Given the description of an element on the screen output the (x, y) to click on. 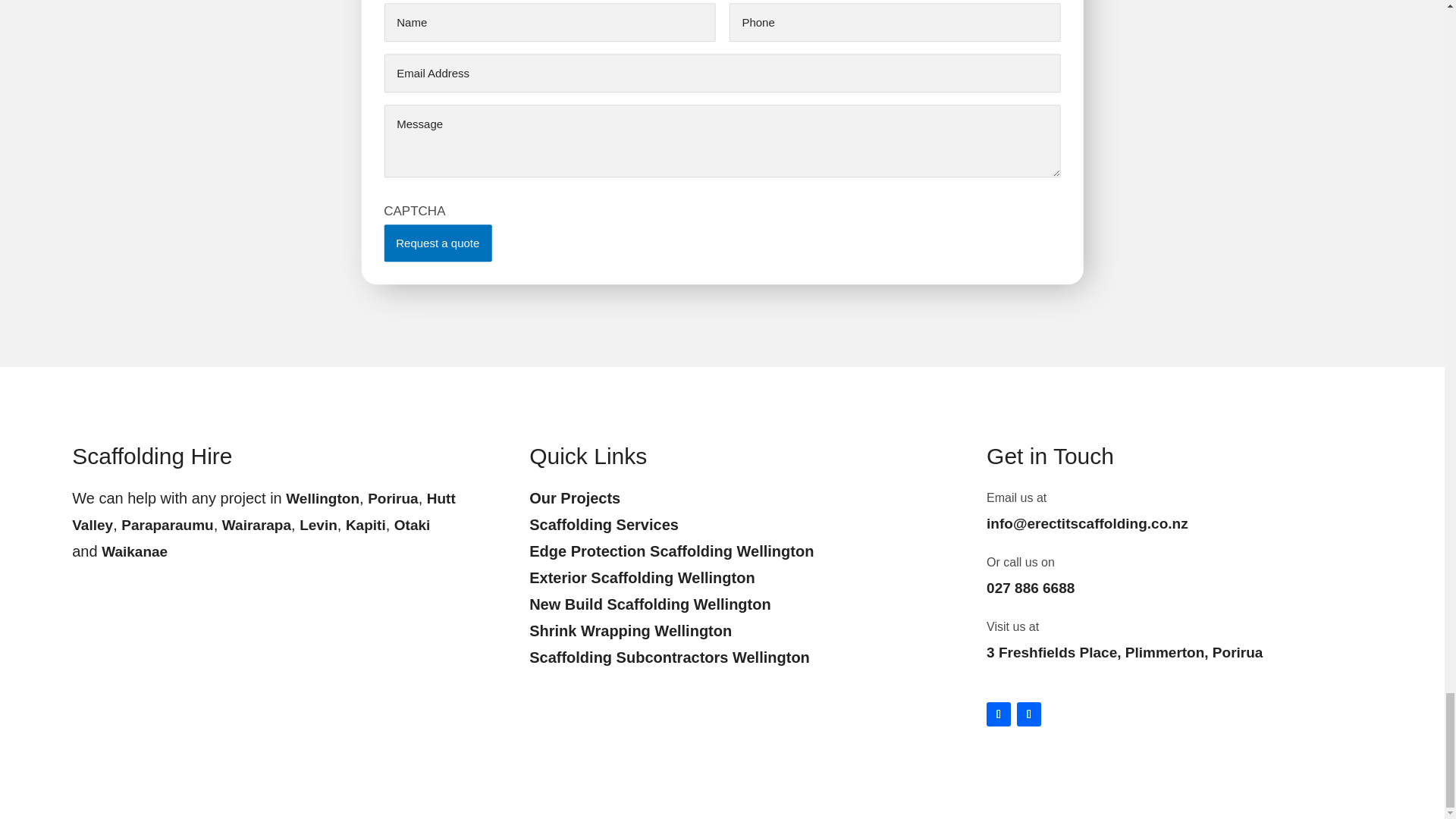
Hutt Valley (263, 511)
Otaki (412, 524)
Follow on Instagram (998, 713)
Exterior Scaffolding Wellington (641, 577)
Wairarapa (256, 524)
Waikanae (134, 551)
New Build Scaffolding Wellington (650, 604)
Follow on Facebook (1028, 713)
Porirua (393, 498)
Request a quote (438, 242)
